Given the description of an element on the screen output the (x, y) to click on. 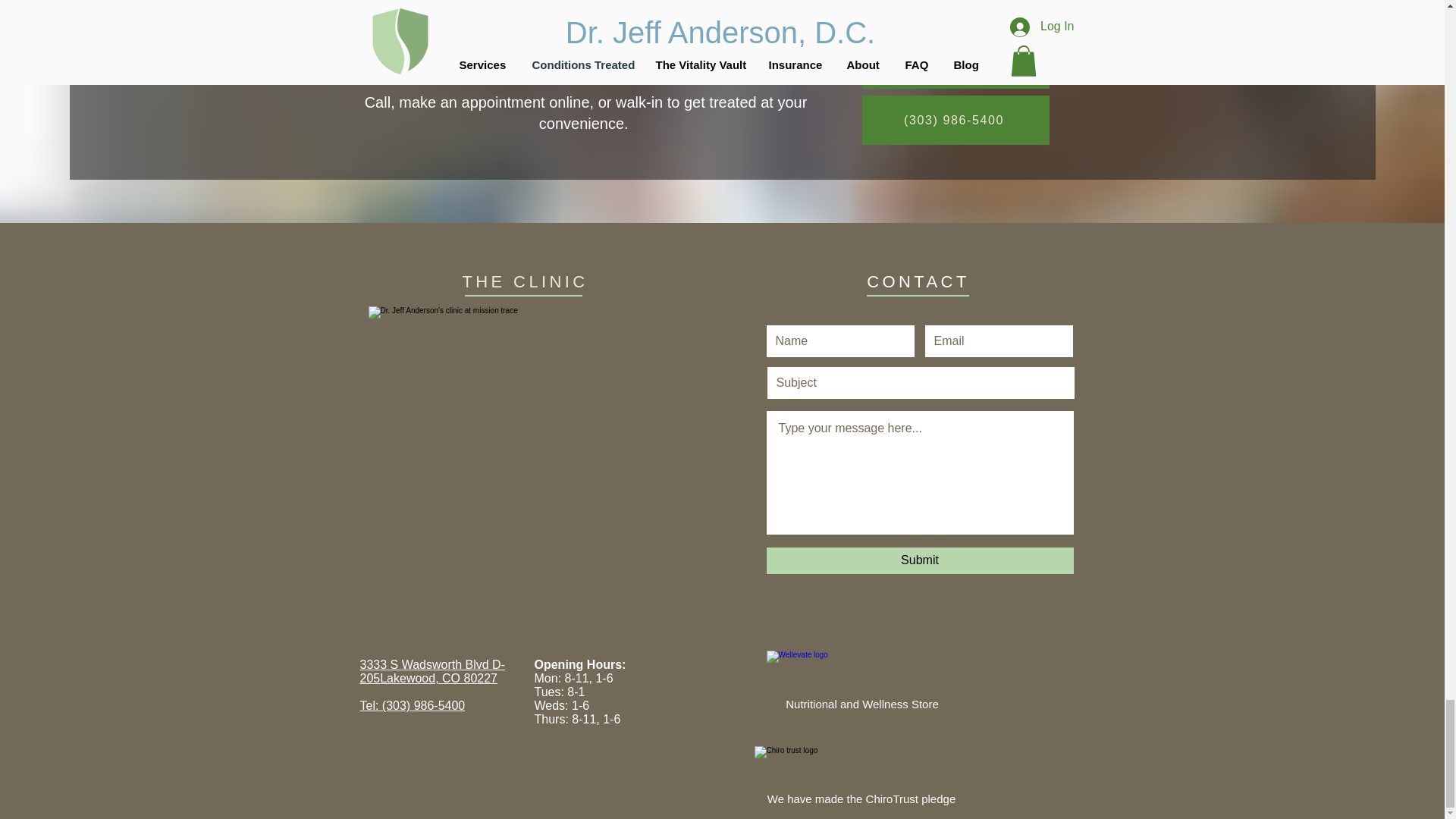
3333 S Wadsworth Blvd D-205Lakewood, CO 80227 (431, 671)
Make an Appointment (954, 63)
Submit (919, 560)
